Given the description of an element on the screen output the (x, y) to click on. 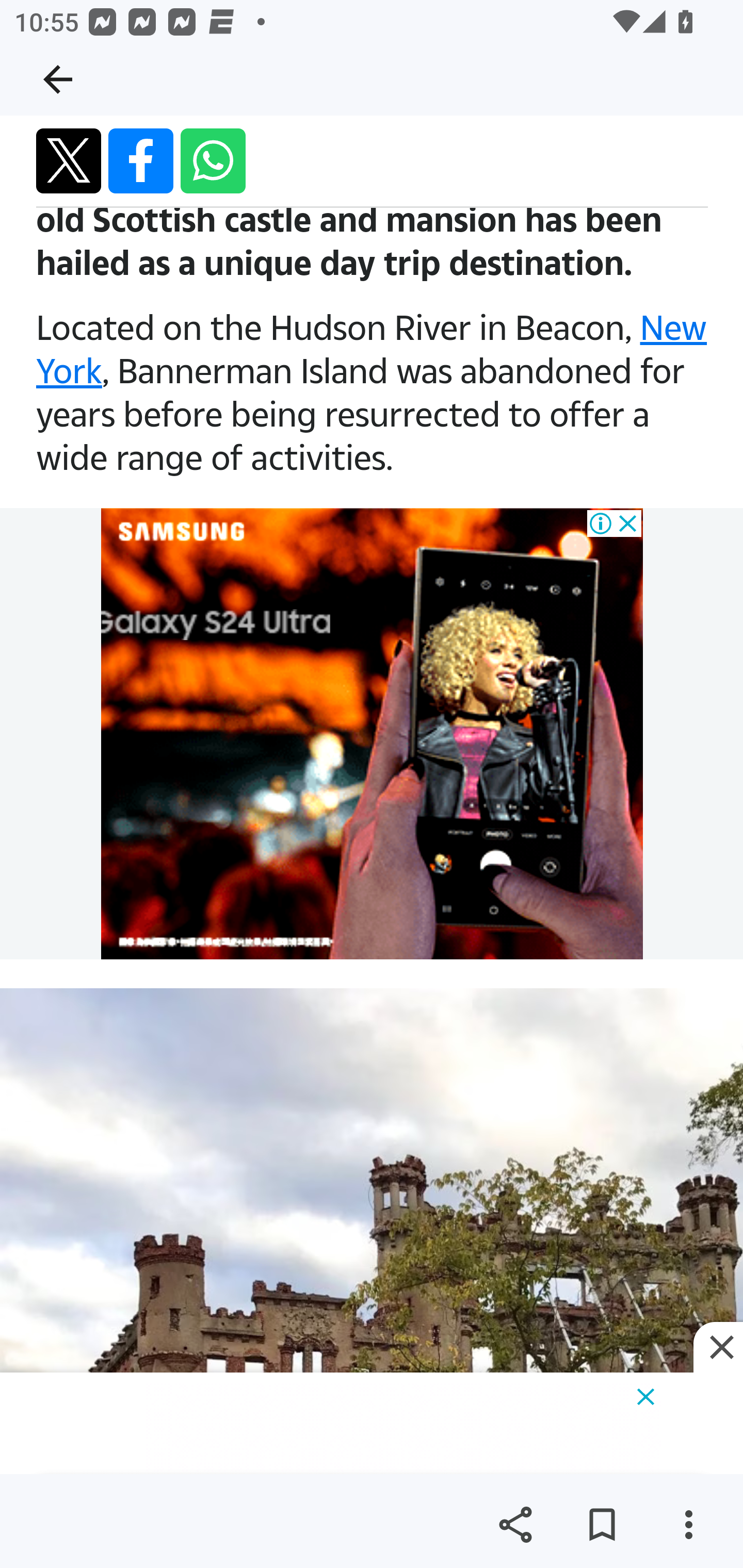
Navigate up (57, 79)
Share by twitter (69, 161)
Share by facebook (141, 161)
Share by whatsapp (212, 161)
New York (372, 349)
Share (514, 1524)
Save for later (601, 1524)
More options (688, 1524)
